Given the description of an element on the screen output the (x, y) to click on. 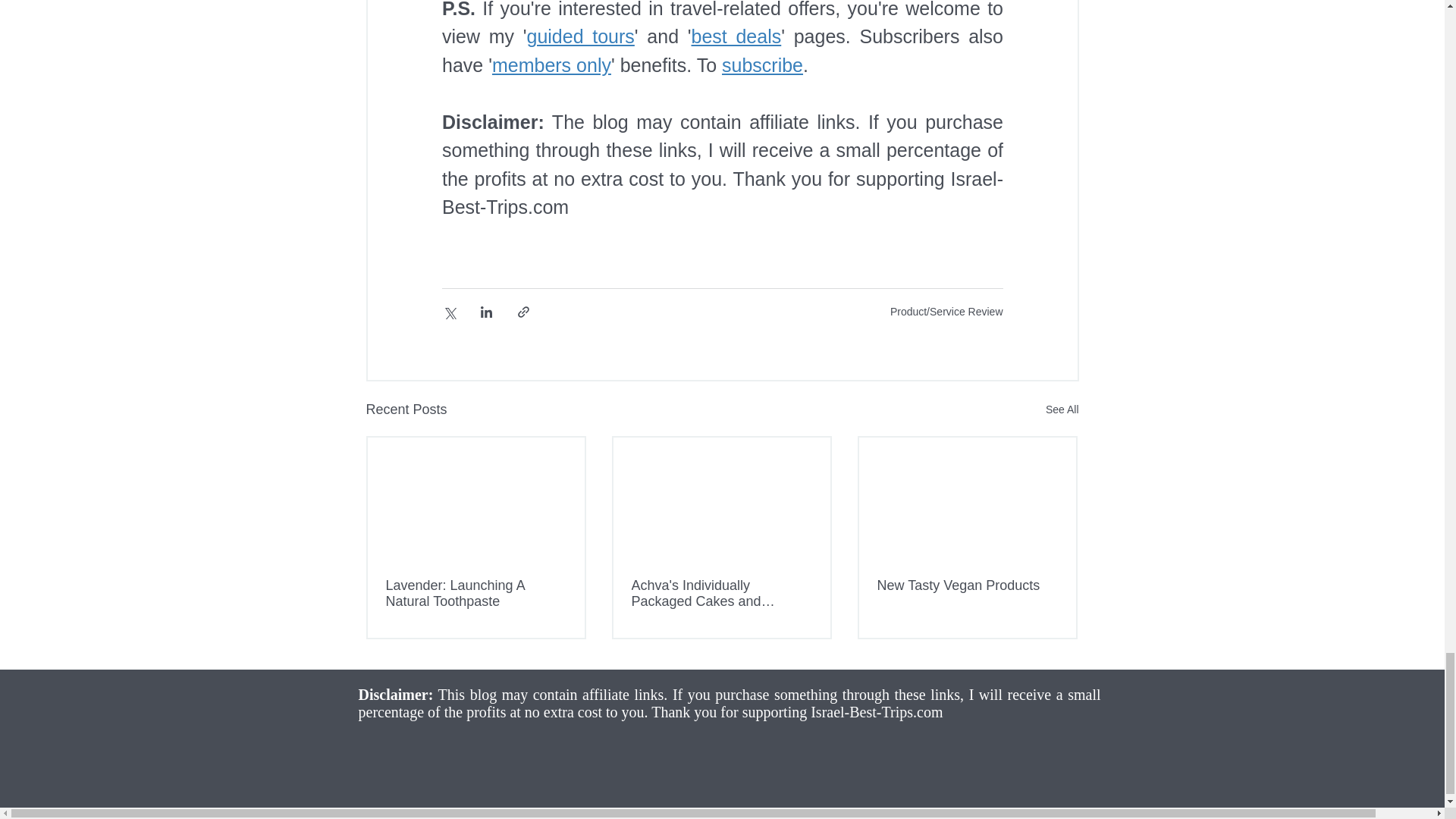
best deals (735, 35)
See All (1061, 409)
subscribe (762, 65)
guided tours (579, 35)
Lavender: Launching A Natural Toothpaste (475, 593)
members only (551, 65)
